Given the description of an element on the screen output the (x, y) to click on. 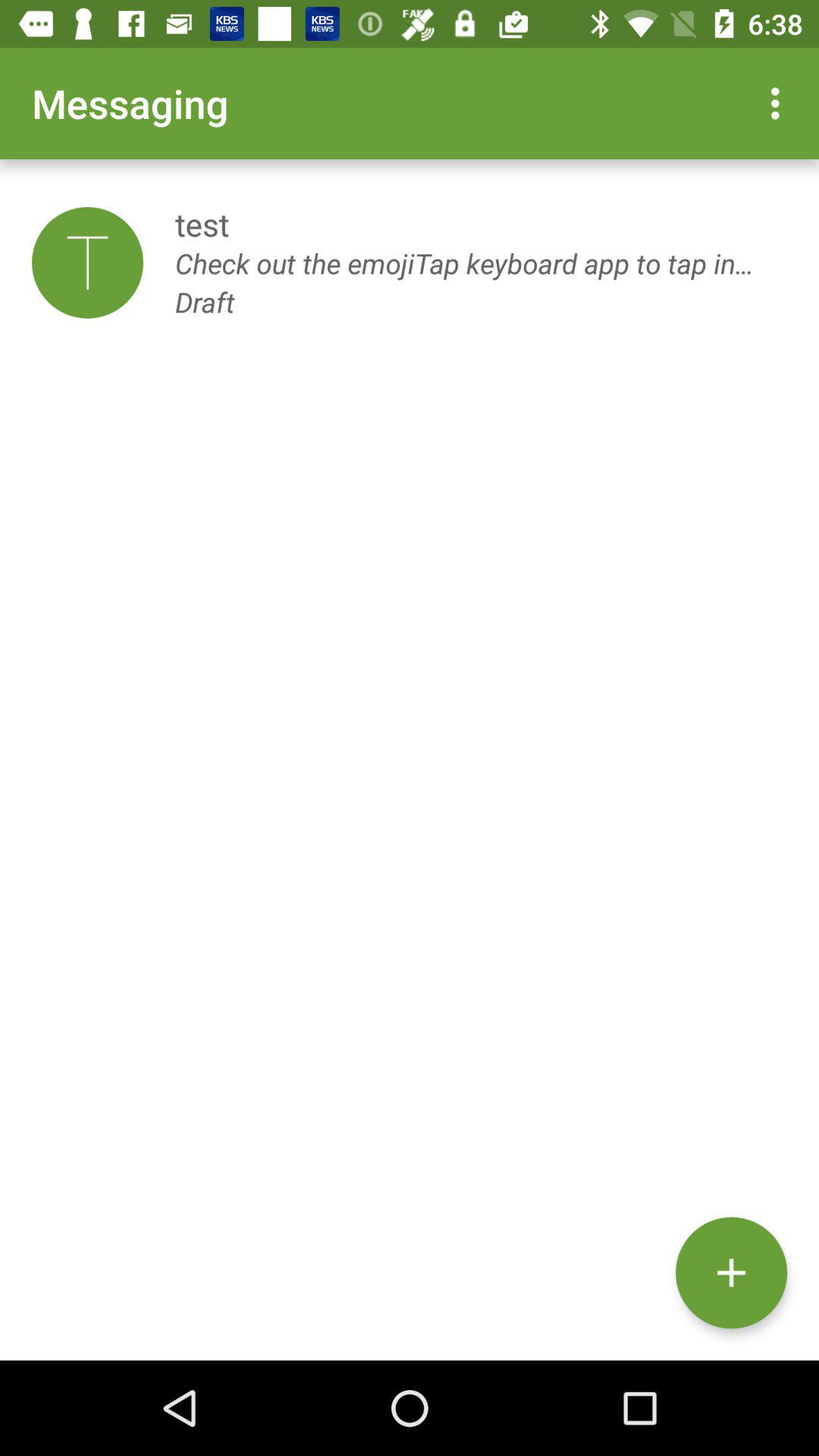
click the item to the right of the messaging icon (779, 103)
